Given the description of an element on the screen output the (x, y) to click on. 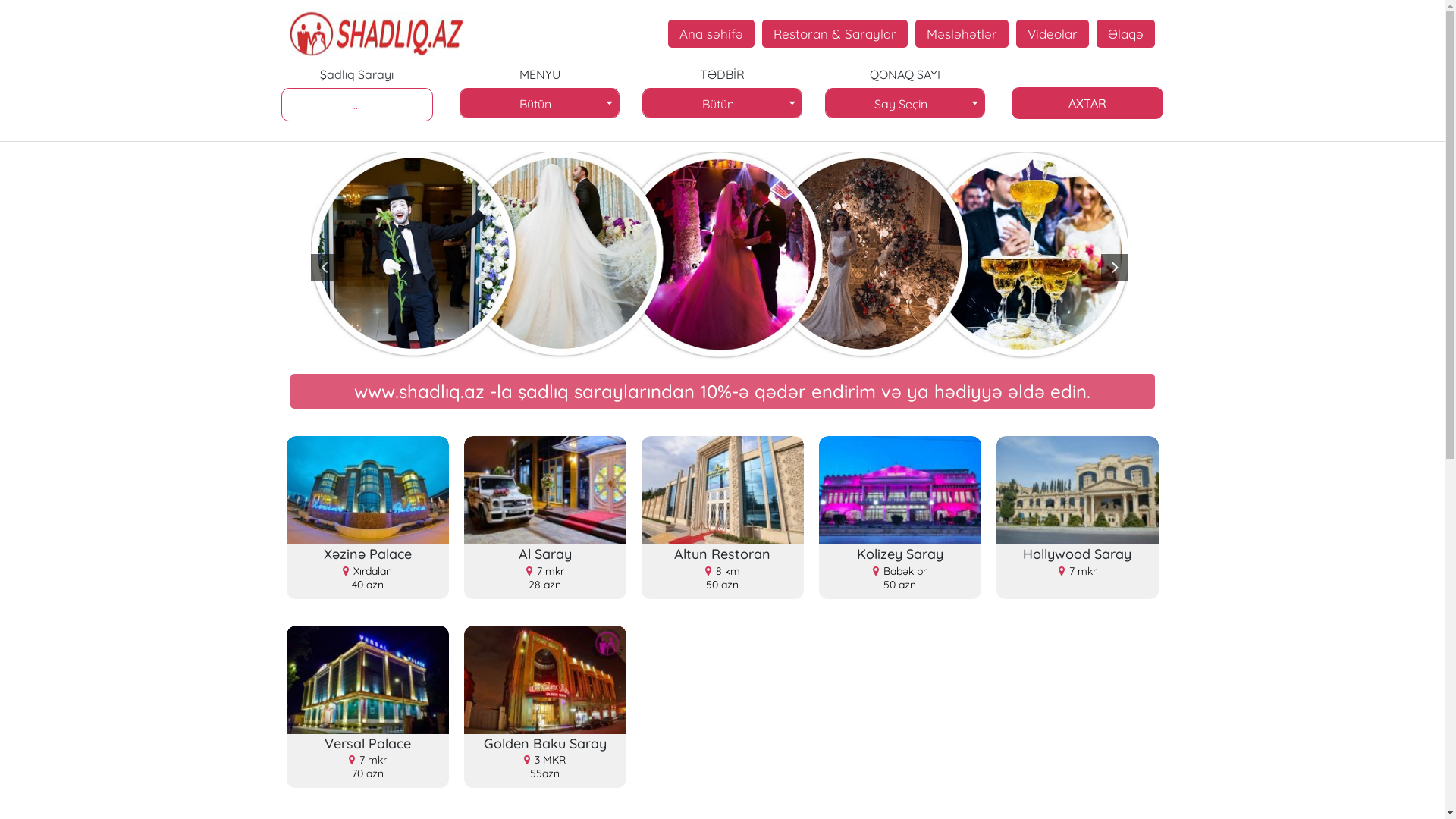
Golden Baku Saray Element type: hover (545, 679)
Kolizey Saray Element type: hover (900, 490)
Restoran & Saraylar Element type: text (834, 33)
Golden Baku Saray
3 MKR
55azn Element type: text (545, 761)
Versal Palace  Element type: hover (367, 679)
Hollywood Saray
7 mkr Element type: text (1077, 560)
Al Saray  Element type: hover (545, 490)
Videolar Element type: text (1052, 33)
Altun Restoran
8 km
50 azn Element type: text (722, 571)
Versal Palace
7 mkr
70 azn Element type: text (367, 761)
AXTAR Element type: text (1087, 103)
Hollywood Saray Element type: hover (1077, 490)
Al Saray
7 mkr
28 azn Element type: text (545, 571)
Altun Restoran Element type: hover (722, 490)
